Given the description of an element on the screen output the (x, y) to click on. 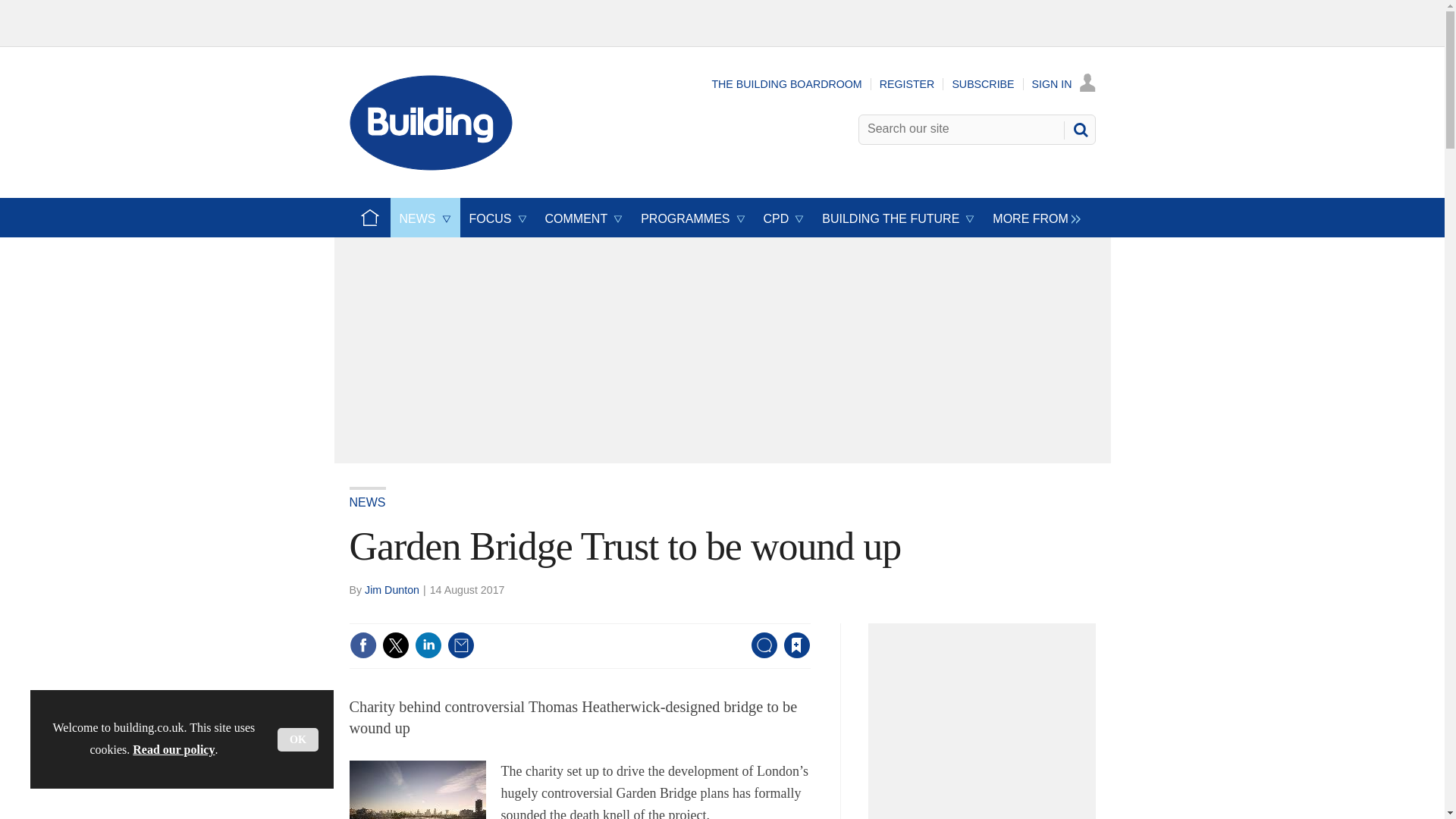
Read our policy (173, 748)
Share this on Twitter (395, 645)
No comments (759, 654)
Insert Logo text (430, 165)
Share this on Linked in (427, 645)
Email this article (460, 645)
THE BUILDING BOARDROOM (786, 83)
SUBSCRIBE (982, 83)
SEARCH (1079, 129)
